Given the description of an element on the screen output the (x, y) to click on. 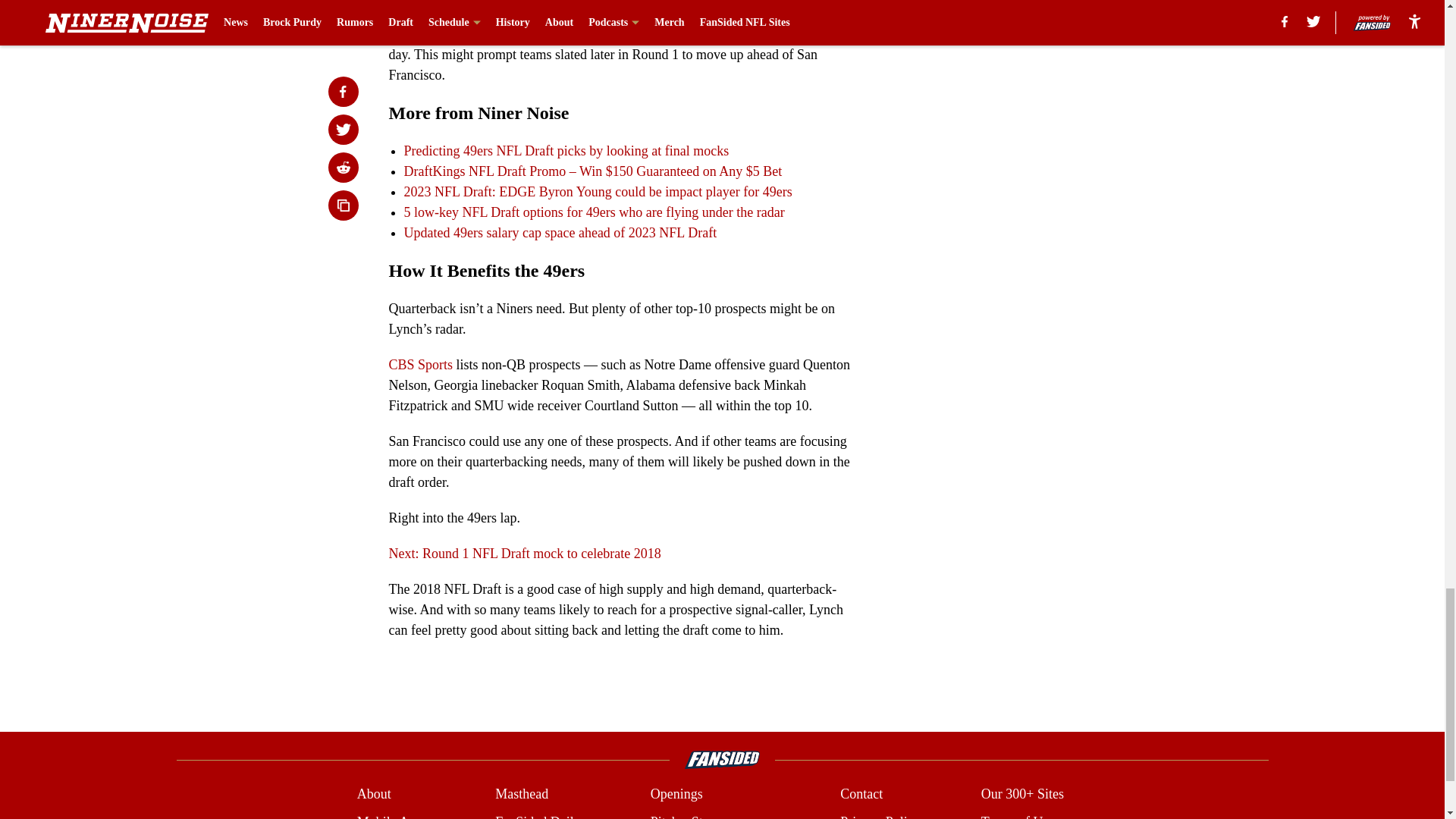
Updated 49ers salary cap space ahead of 2023 NFL Draft (559, 232)
Masthead (521, 793)
CBS Sports (420, 364)
Mobile Apps (392, 815)
Predicting 49ers NFL Draft picks by looking at final mocks (566, 150)
About (373, 793)
Openings (676, 793)
Next: Round 1 NFL Draft mock to celebrate 2018 (524, 553)
Contact (861, 793)
